Given the description of an element on the screen output the (x, y) to click on. 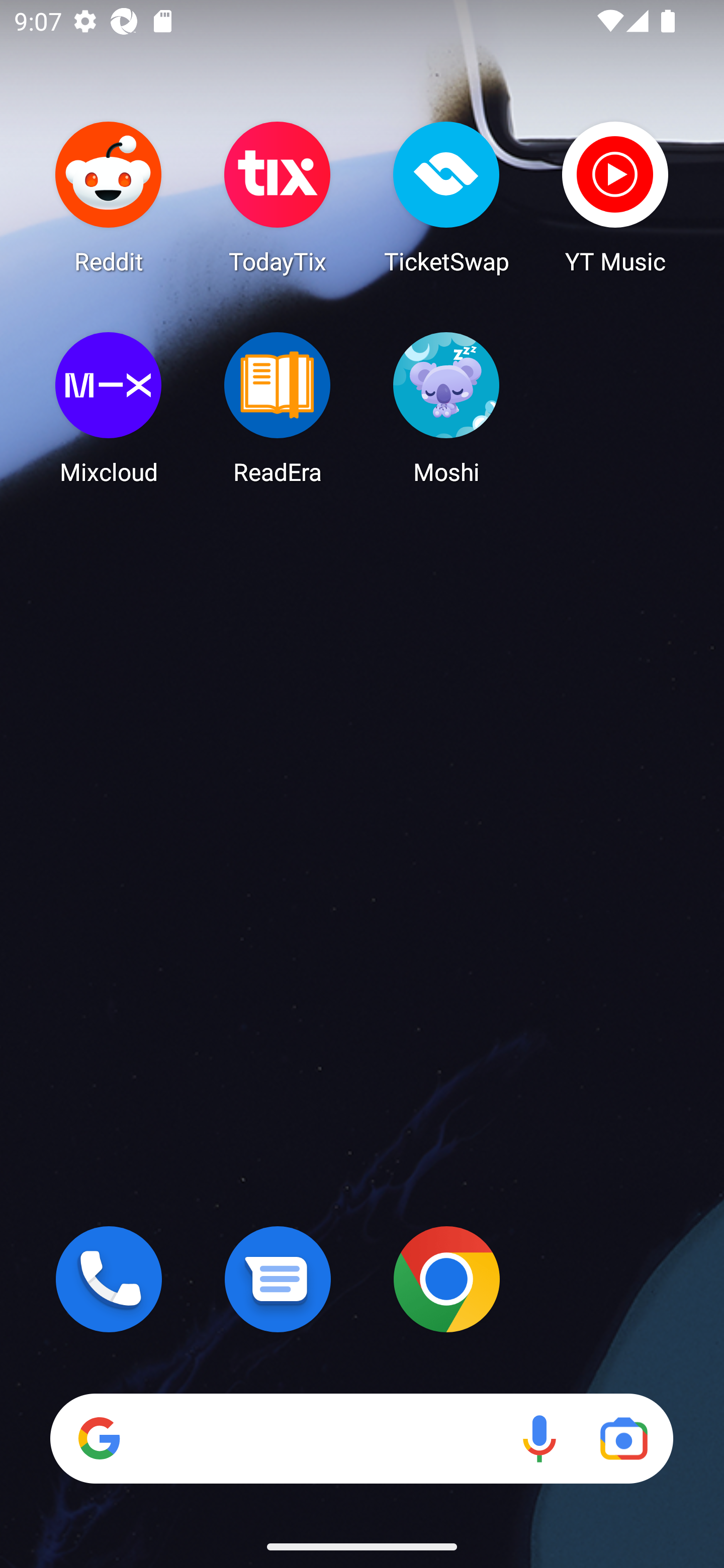
Reddit (108, 196)
TodayTix (277, 196)
TicketSwap (445, 196)
YT Music (615, 196)
Mixcloud (108, 407)
ReadEra (277, 407)
Moshi (445, 407)
Phone (108, 1279)
Messages (277, 1279)
Chrome (446, 1279)
Search Voice search Google Lens (361, 1438)
Voice search (539, 1438)
Google Lens (623, 1438)
